Given the description of an element on the screen output the (x, y) to click on. 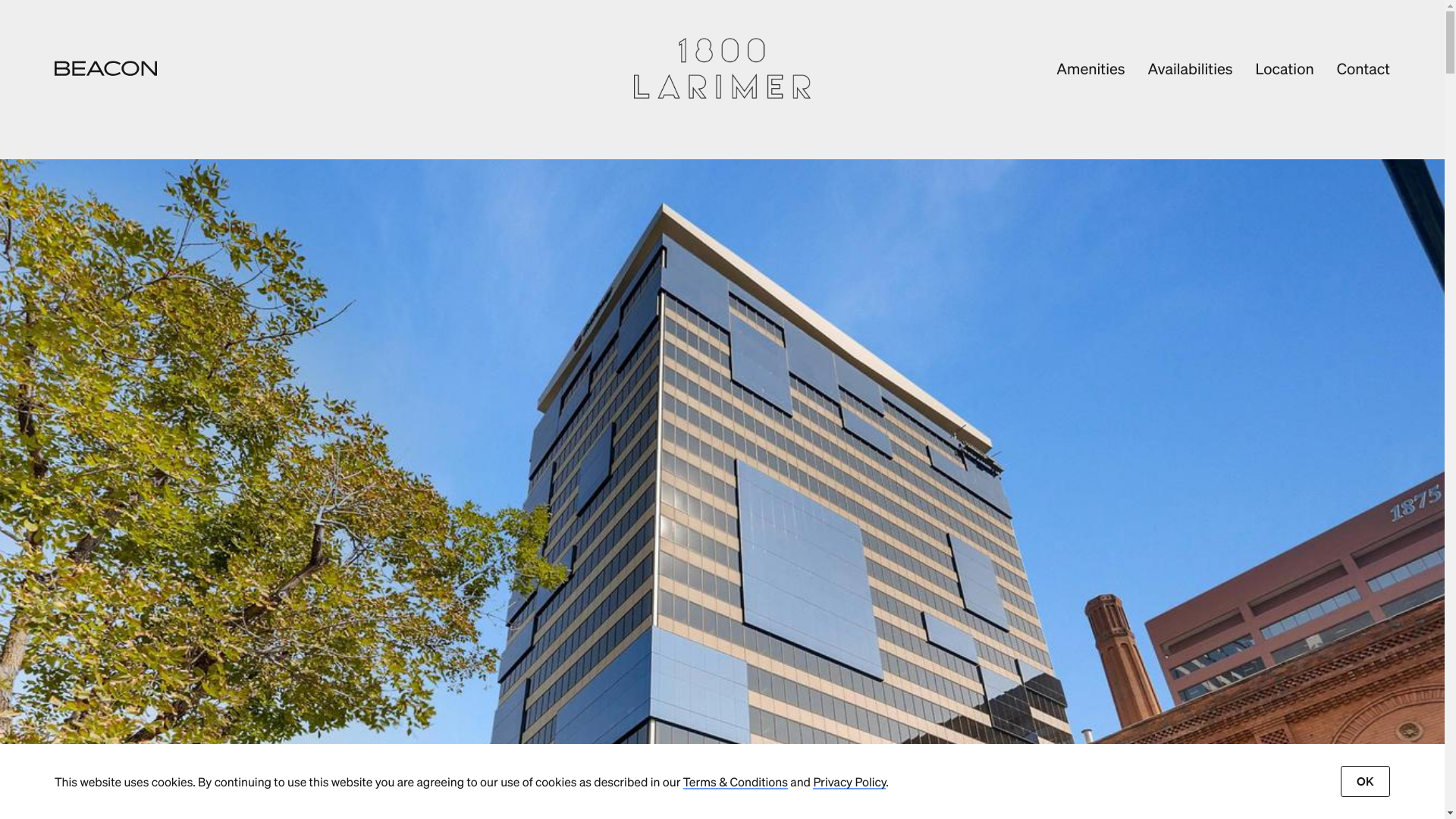
Privacy Policy Element type: text (848, 781)
Contact Element type: text (1363, 68)
Amenities Element type: text (1090, 68)
Back to top Element type: text (721, 67)
Location Element type: text (1284, 68)
Availabilities Element type: text (1189, 68)
Terms & Conditions Element type: text (735, 781)
OK Element type: text (1365, 781)
Beacon Capital Partners Element type: text (105, 67)
